Given the description of an element on the screen output the (x, y) to click on. 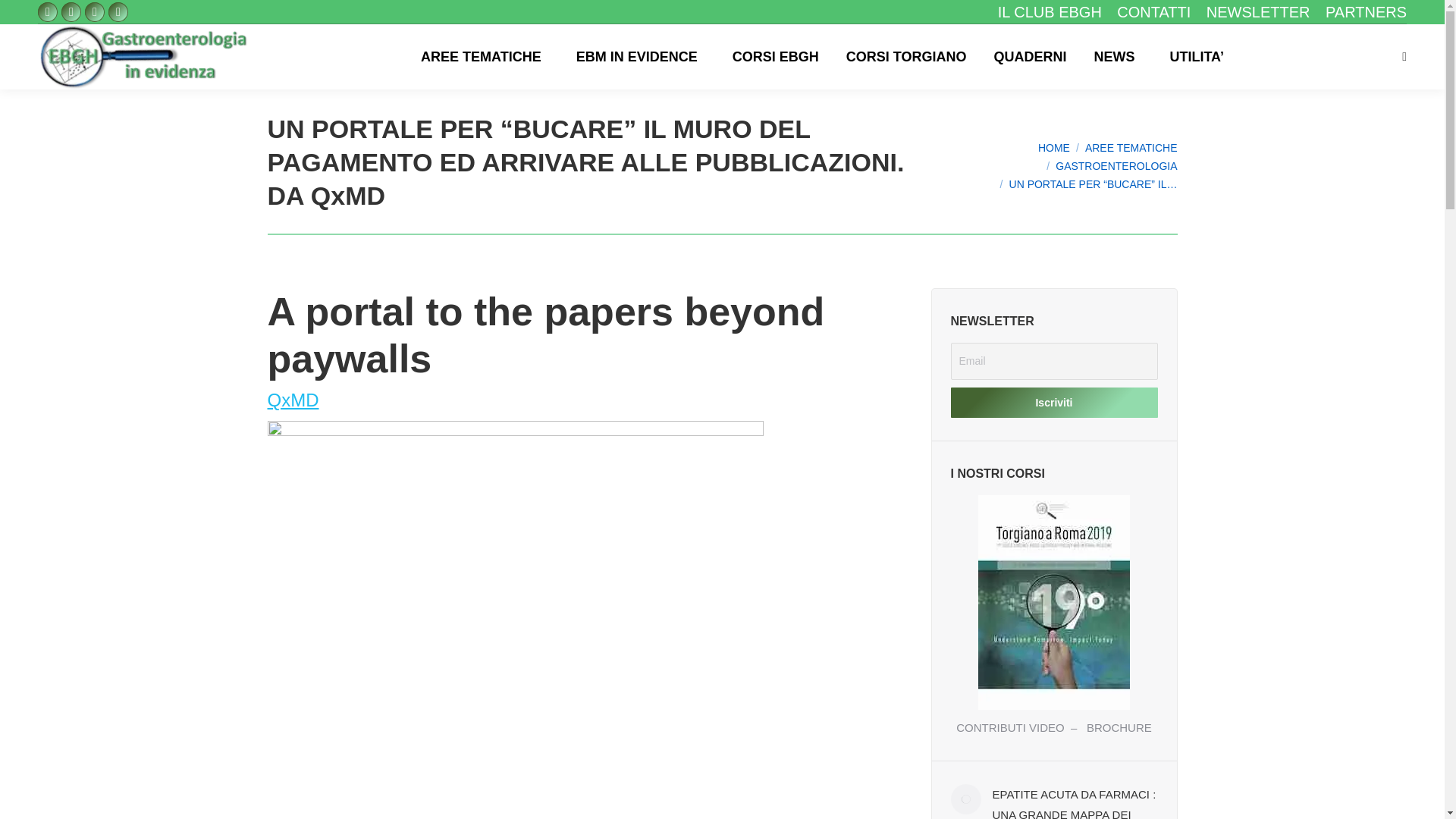
NEWSLETTER (1258, 12)
Aree tematiche (1130, 147)
YouTube page opens in new window (94, 12)
YouTube page opens in new window (94, 12)
Linkedin page opens in new window (117, 12)
PARTNERS (1365, 12)
CONTATTI (1153, 12)
Home (1054, 147)
Facebook page opens in new window (47, 12)
GASTROENTEROLOGIA (1115, 165)
